Given the description of an element on the screen output the (x, y) to click on. 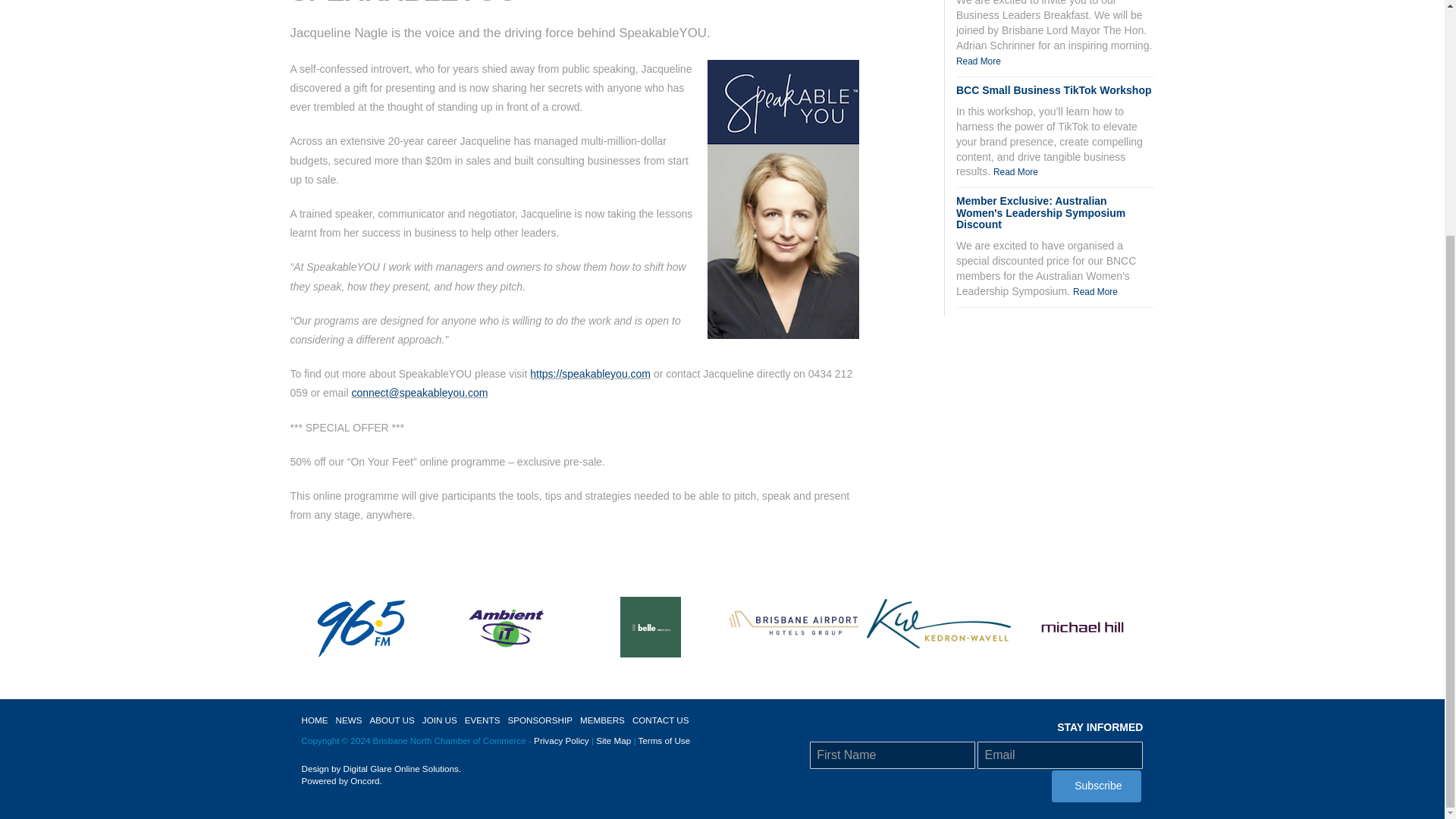
BCC Small Business TikTok Workshop (1053, 90)
Read More (1015, 172)
Read More (978, 61)
Read More (1095, 291)
